Given the description of an element on the screen output the (x, y) to click on. 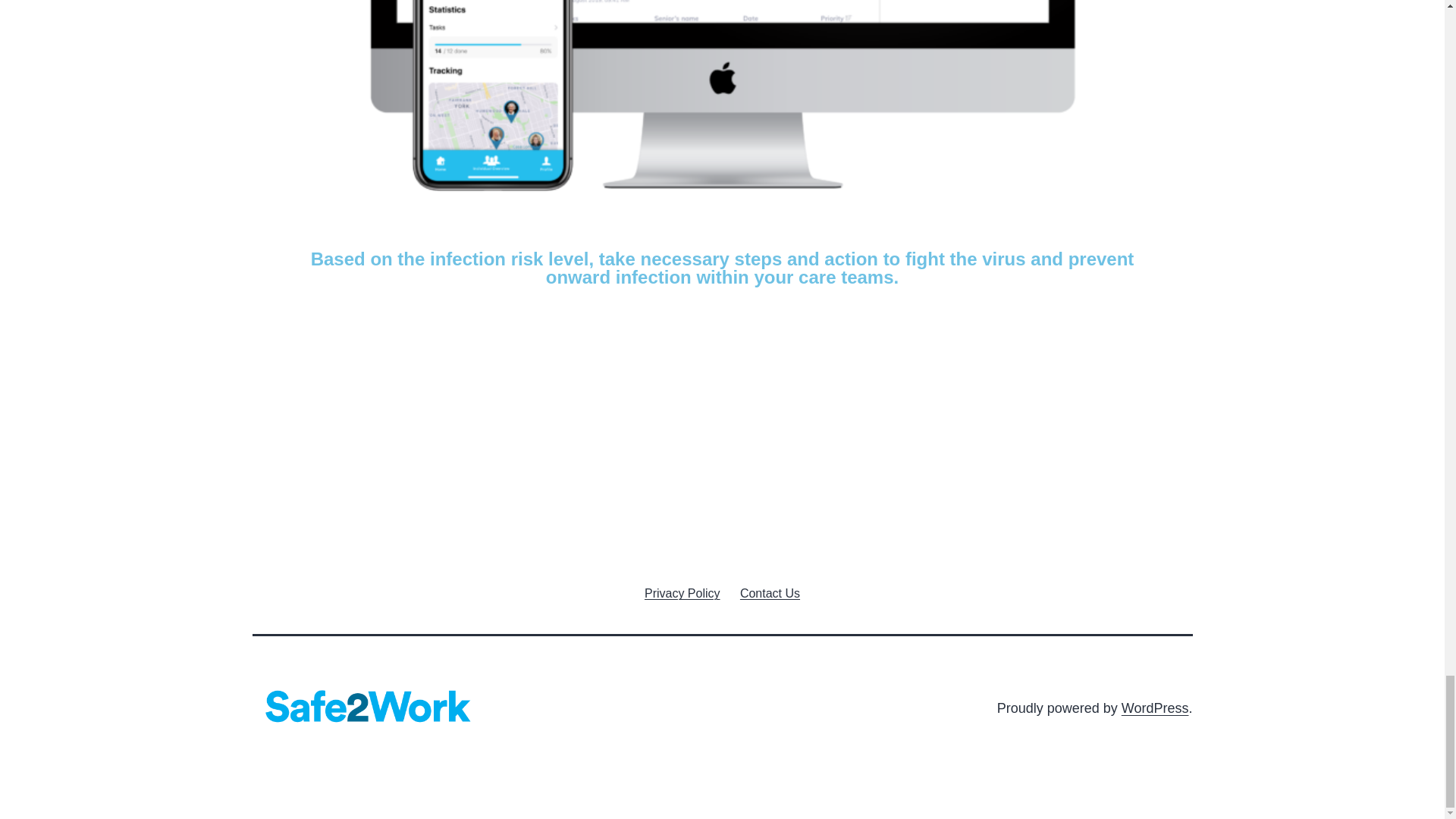
Privacy Policy (682, 592)
WordPress (1155, 708)
Contact Us (770, 592)
